Given the description of an element on the screen output the (x, y) to click on. 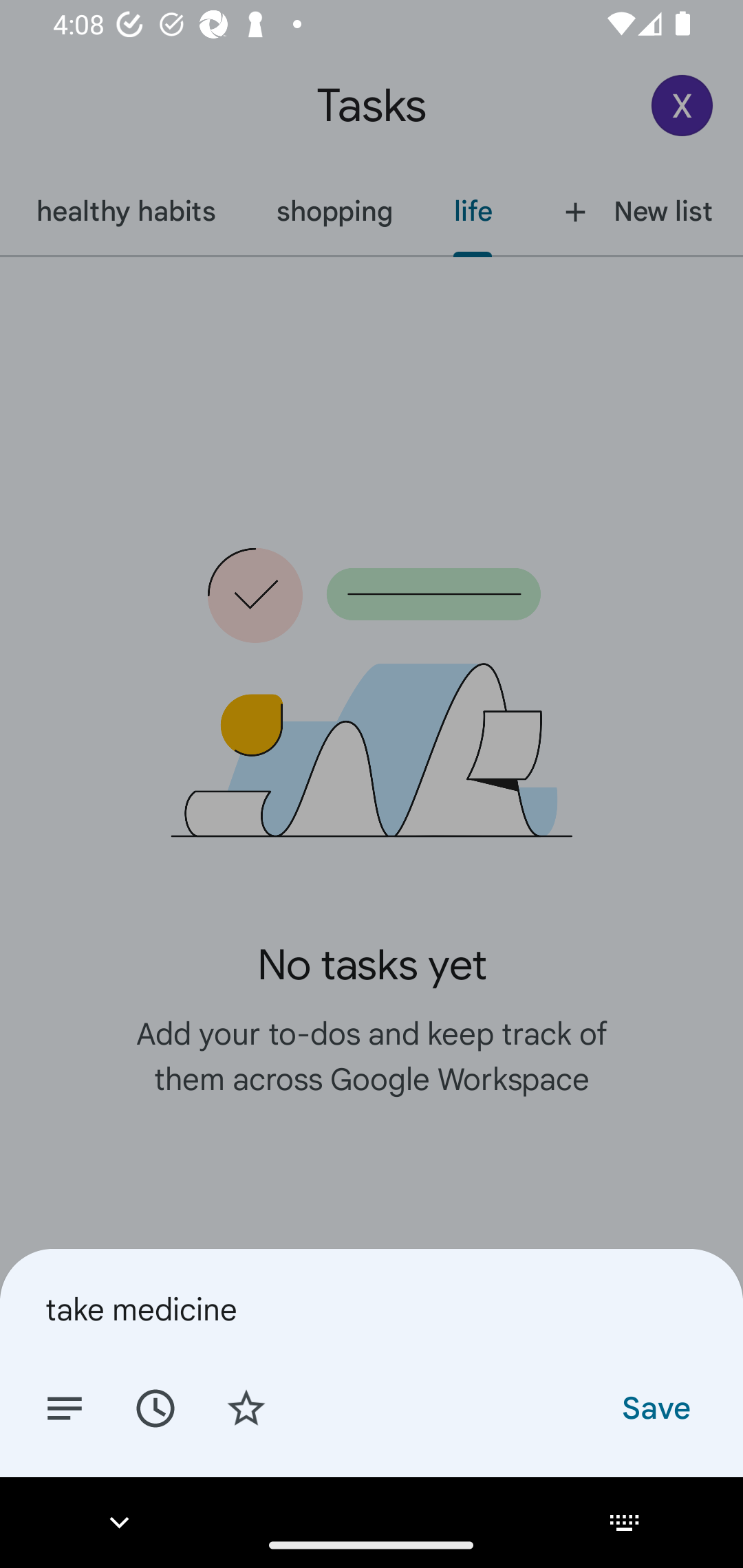
take medicine (371, 1308)
Save (655, 1407)
Add details (64, 1407)
Set date/time (154, 1407)
Add star (245, 1407)
